Given the description of an element on the screen output the (x, y) to click on. 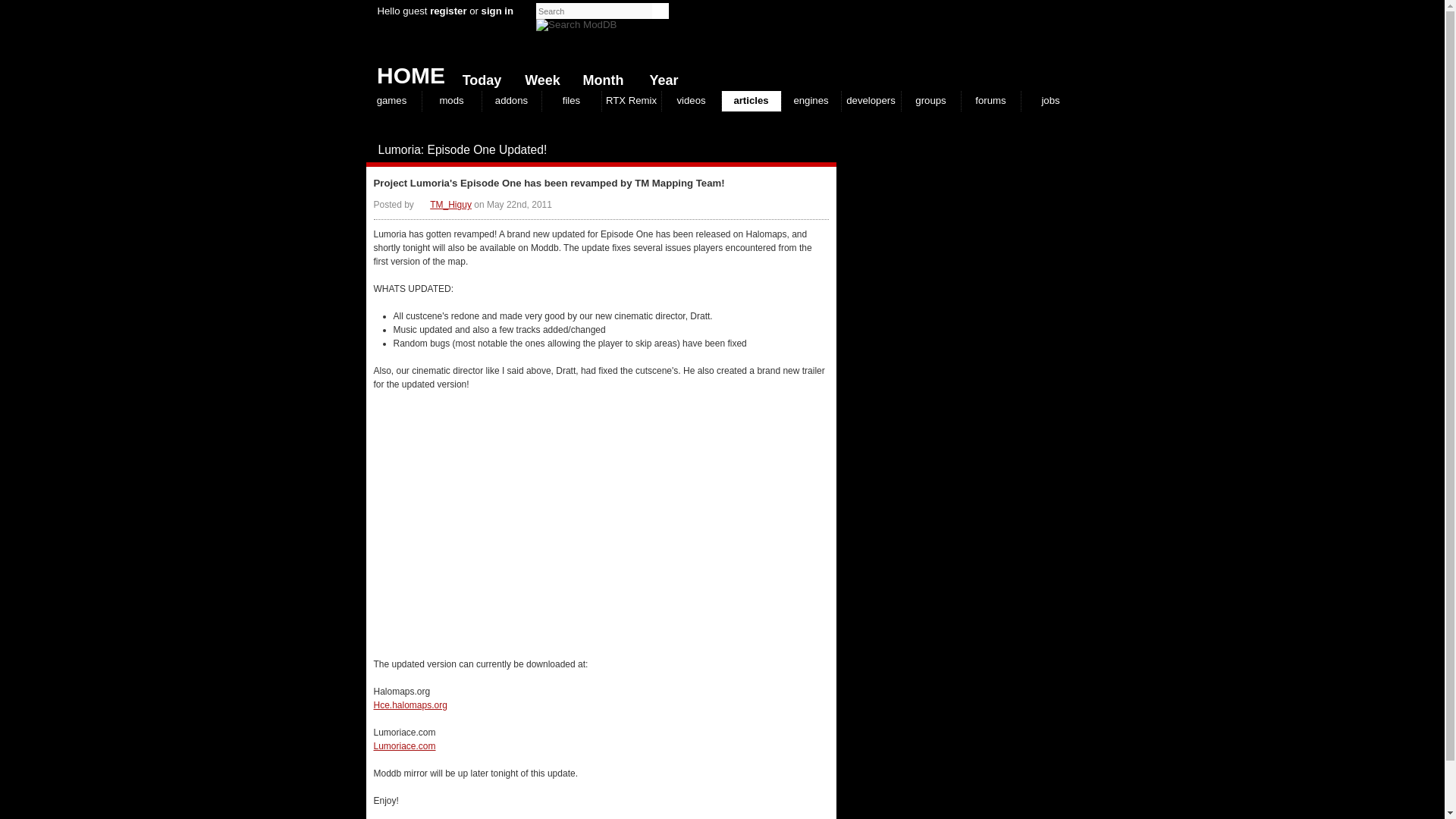
sign in (497, 10)
ModDB Home (965, 45)
Today (478, 76)
files (570, 100)
New today (478, 76)
Post news (797, 150)
Week (539, 76)
Month (599, 76)
mods (451, 100)
videos (690, 100)
